Given the description of an element on the screen output the (x, y) to click on. 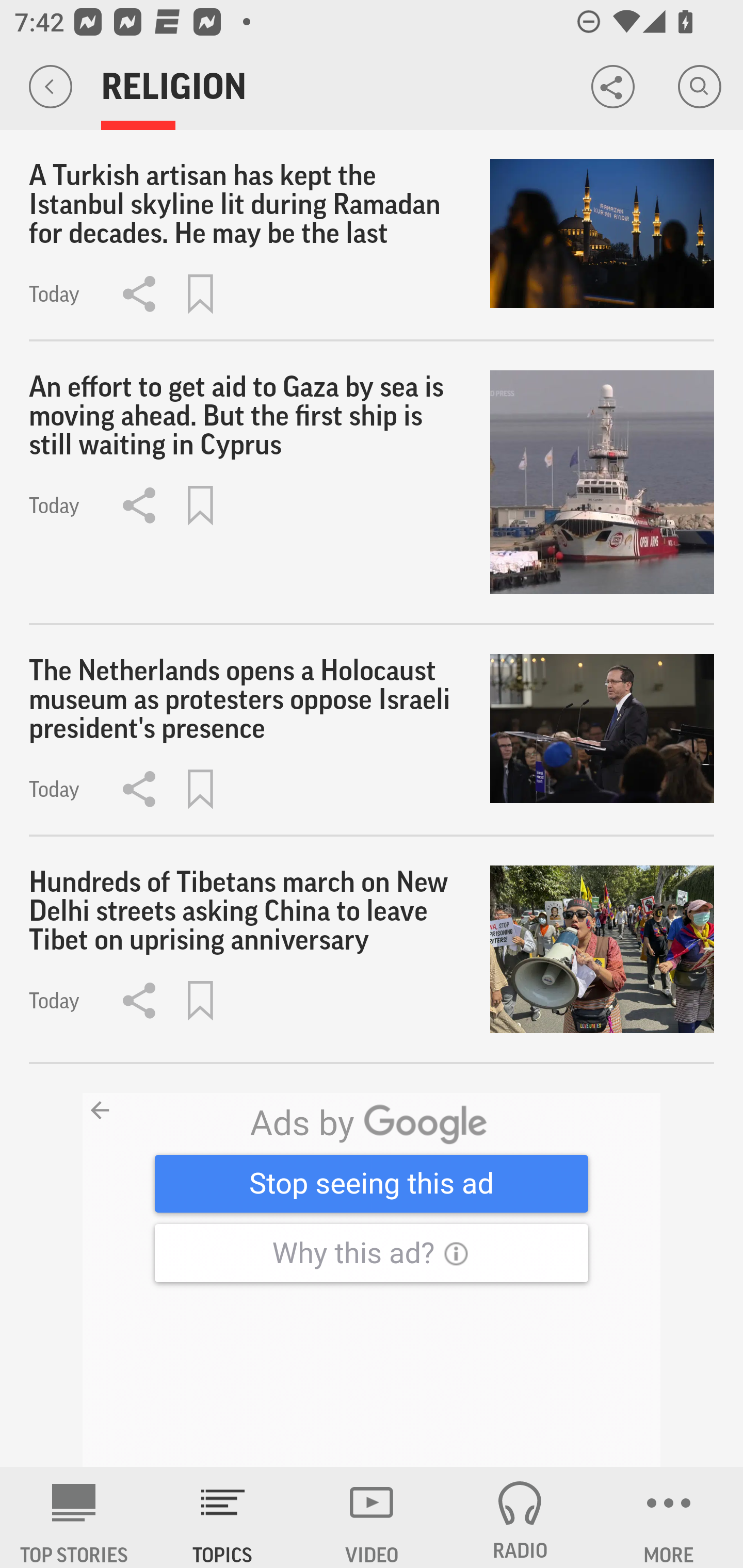
8 (371, 1279)
AP News TOP STORIES (74, 1517)
TOPICS (222, 1517)
VIDEO (371, 1517)
RADIO (519, 1517)
MORE (668, 1517)
